Given the description of an element on the screen output the (x, y) to click on. 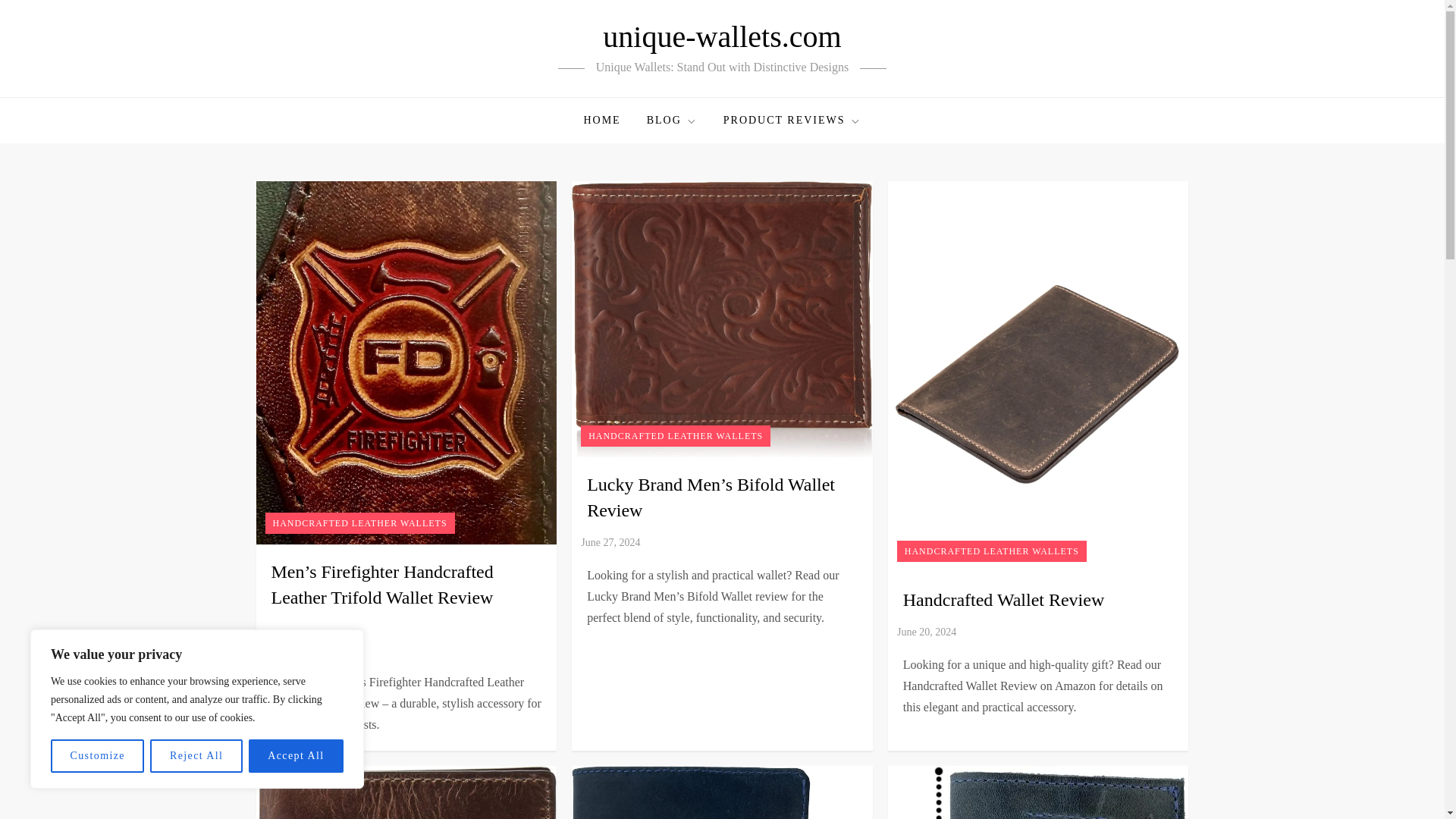
unique-wallets.com (721, 36)
June 27, 2024 (610, 542)
Reject All (195, 756)
HOME (601, 120)
BLOG (671, 120)
Accept All (295, 756)
PRODUCT REVIEWS (791, 120)
July 4, 2024 (244, 649)
HANDCRAFTED LEATHER WALLETS (359, 522)
Customize (97, 756)
HANDCRAFTED LEATHER WALLETS (675, 435)
